Given the description of an element on the screen output the (x, y) to click on. 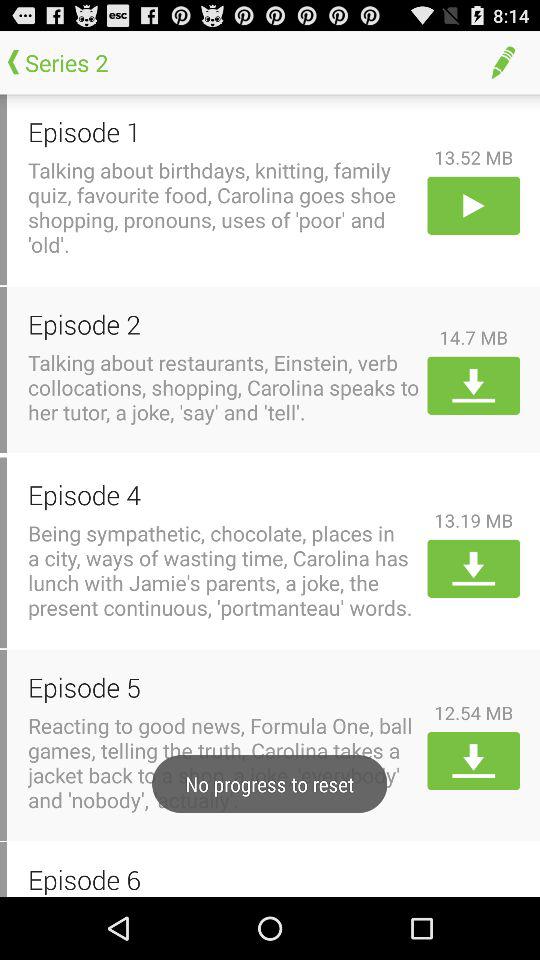
open the icon above talking about birthdays icon (224, 131)
